Given the description of an element on the screen output the (x, y) to click on. 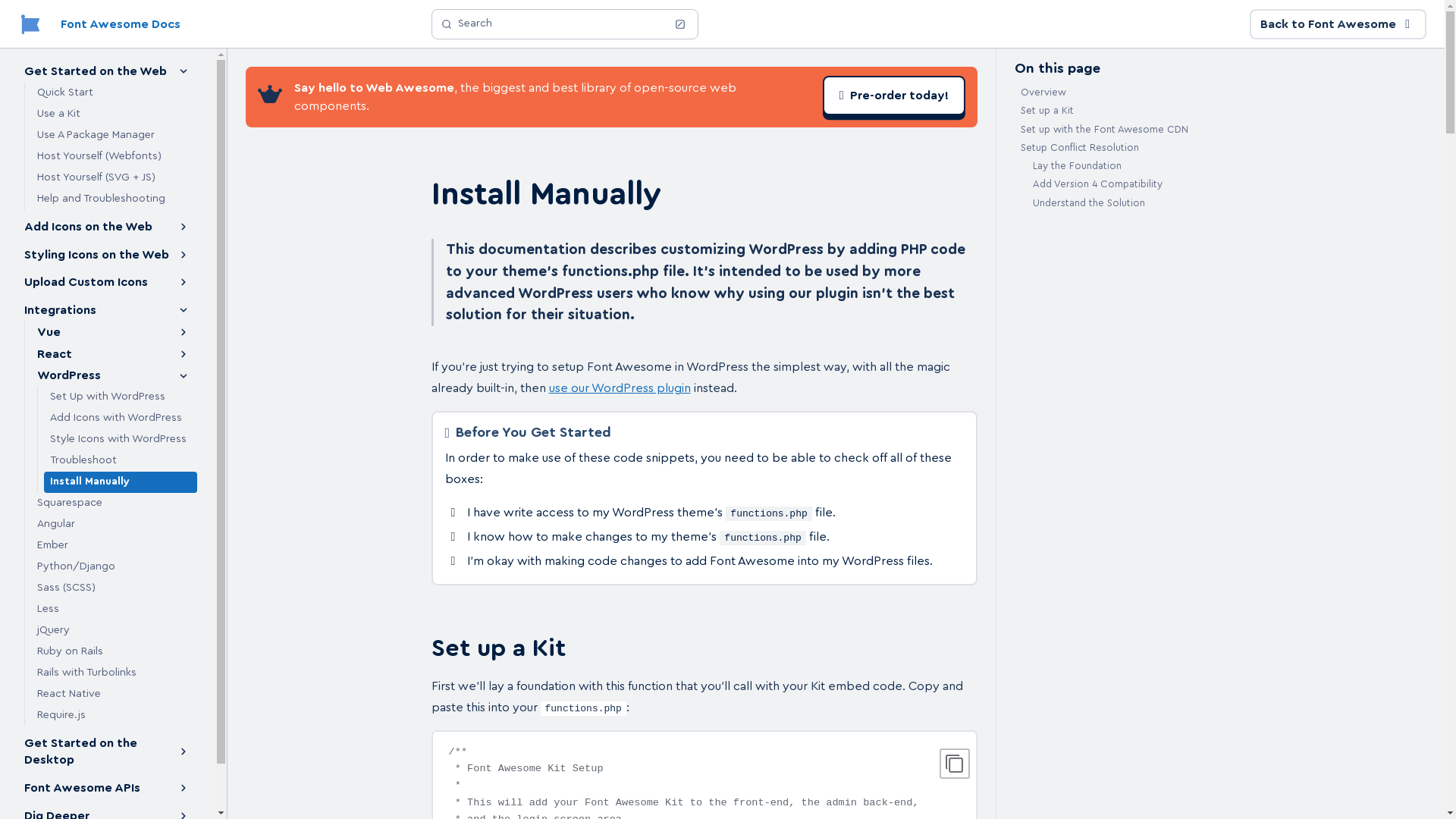
Use a Kit (113, 114)
Help and Troubleshooting (113, 199)
Back to Font Awesome (1337, 24)
Quick Start (113, 93)
Use A Package Manager (113, 135)
Font Awesome Docs (98, 24)
Copy to clipboard (954, 763)
Skip to content (52, 19)
Search (563, 24)
